Given the description of an element on the screen output the (x, y) to click on. 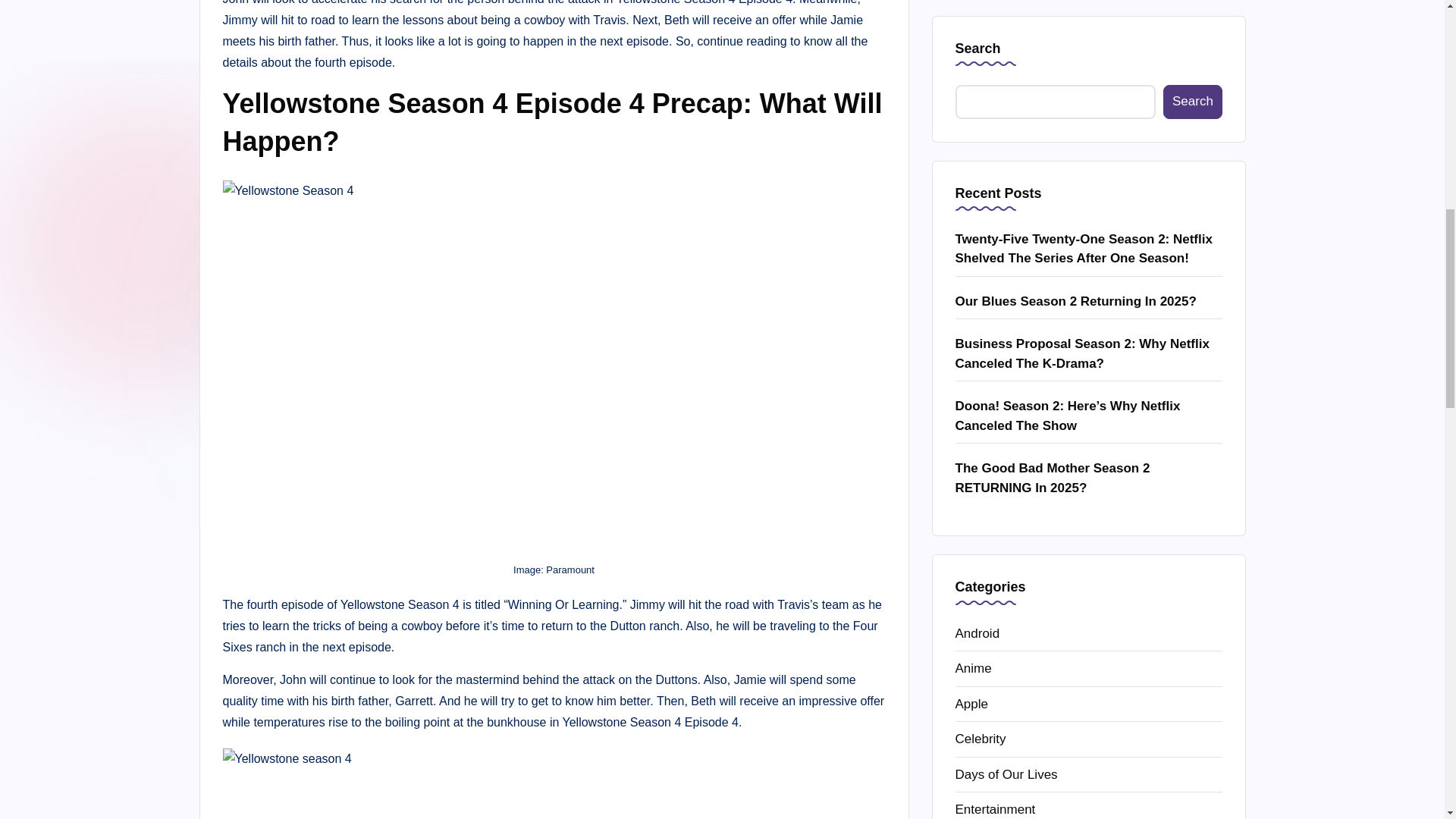
Celebrity (1089, 91)
Anime (1089, 21)
Apple (1089, 56)
